Given the description of an element on the screen output the (x, y) to click on. 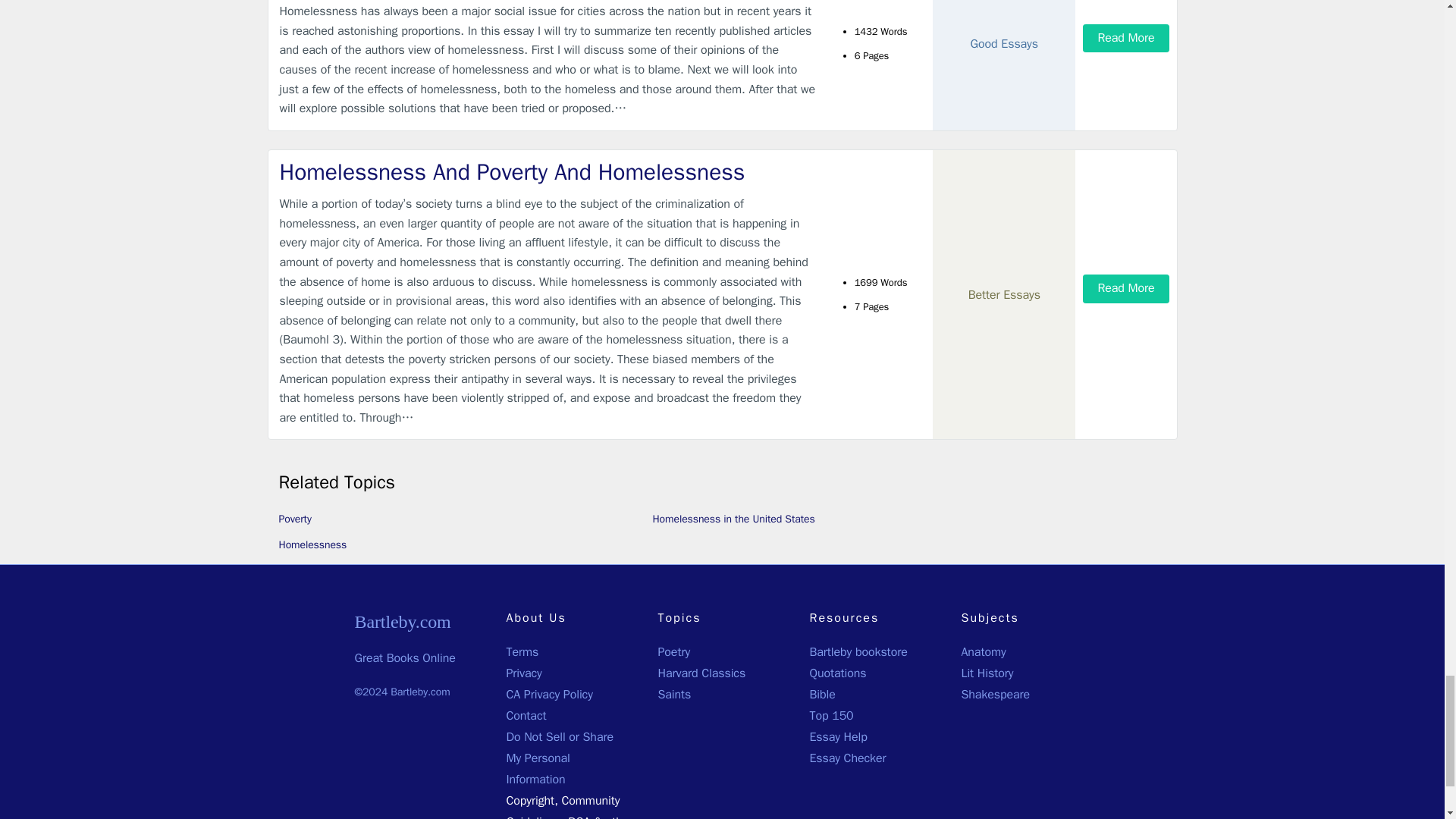
Poverty (295, 518)
Homelessness (313, 544)
Homelessness in the United States (732, 518)
